Given the description of an element on the screen output the (x, y) to click on. 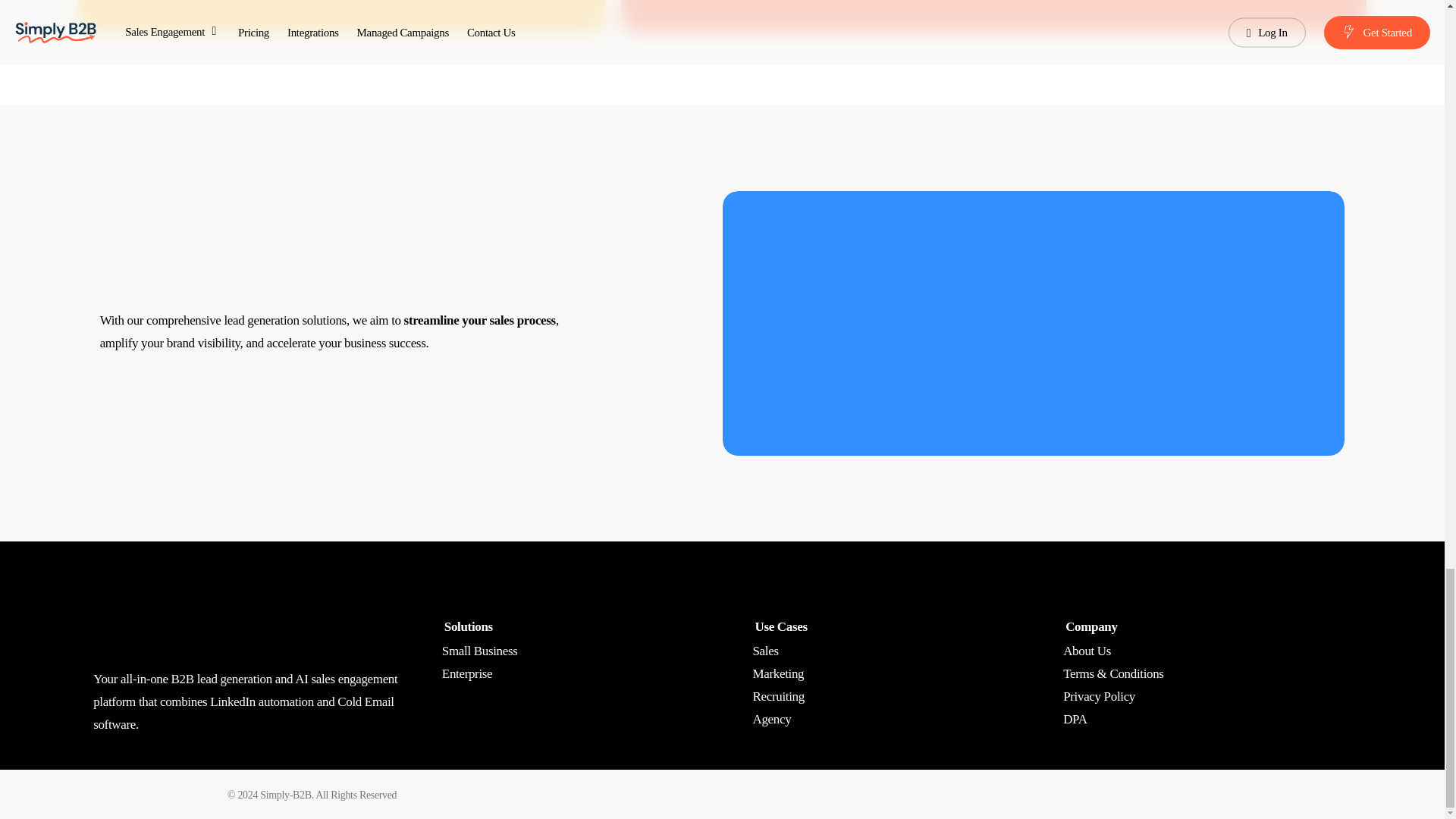
DPA (1074, 718)
Privacy Policy (1098, 696)
About Us (1086, 650)
